Given the description of an element on the screen output the (x, y) to click on. 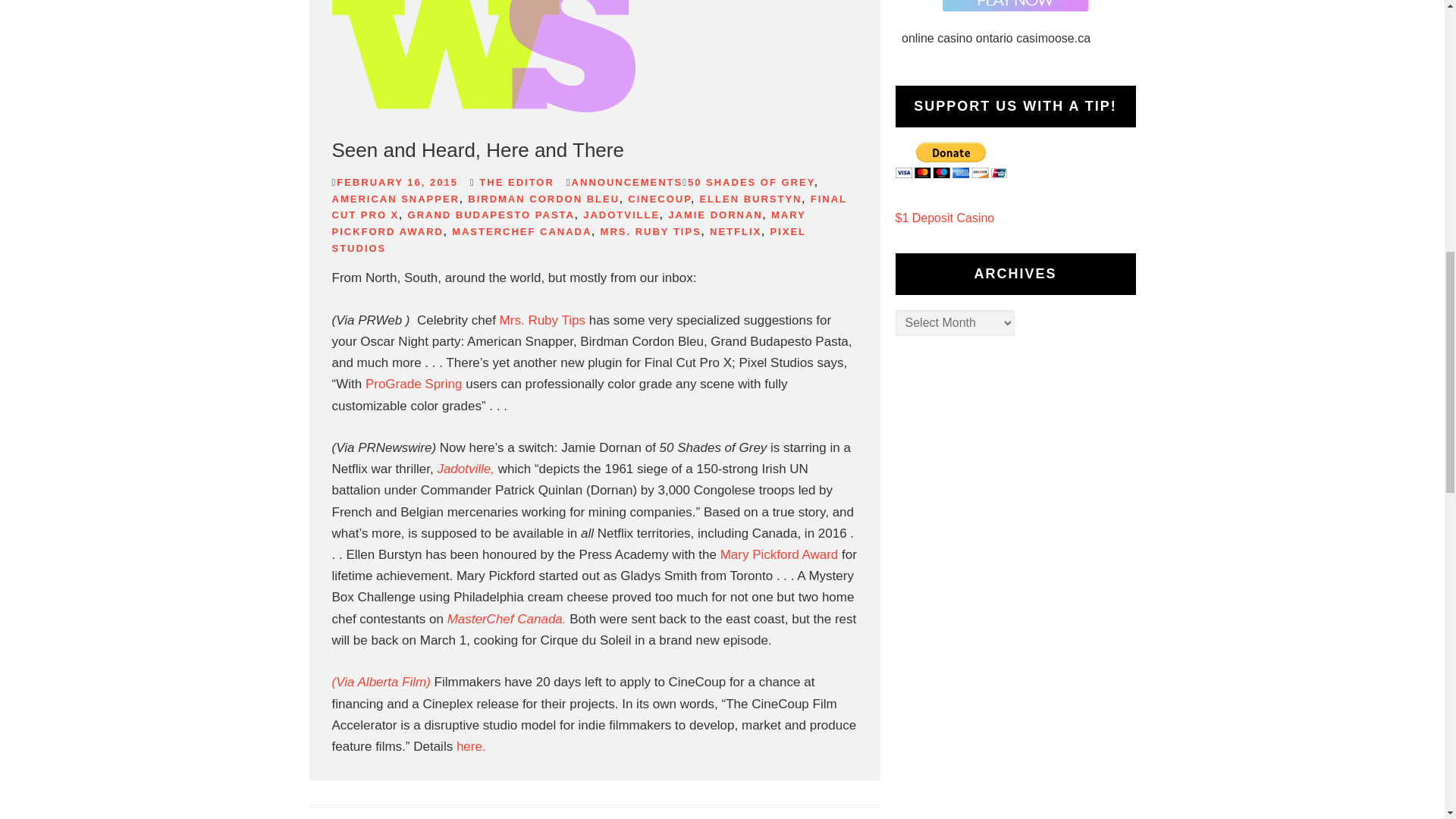
JADOTVILLE (621, 214)
PIXEL STUDIOS (568, 239)
AMERICAN SNAPPER (395, 198)
FEBRUARY 16, 2015 (397, 182)
NETFLIX (735, 231)
MasterChef Canada. (508, 618)
Jadotville, (466, 468)
MARY PICKFORD AWARD (568, 223)
BIRDMAN CORDON BLEU (543, 198)
FINAL CUT PRO X (589, 207)
Mrs. Ruby Tips (542, 319)
PayPal - The safer, easier way to pay online! (950, 160)
50 SHADES OF GREY (750, 182)
